Given the description of an element on the screen output the (x, y) to click on. 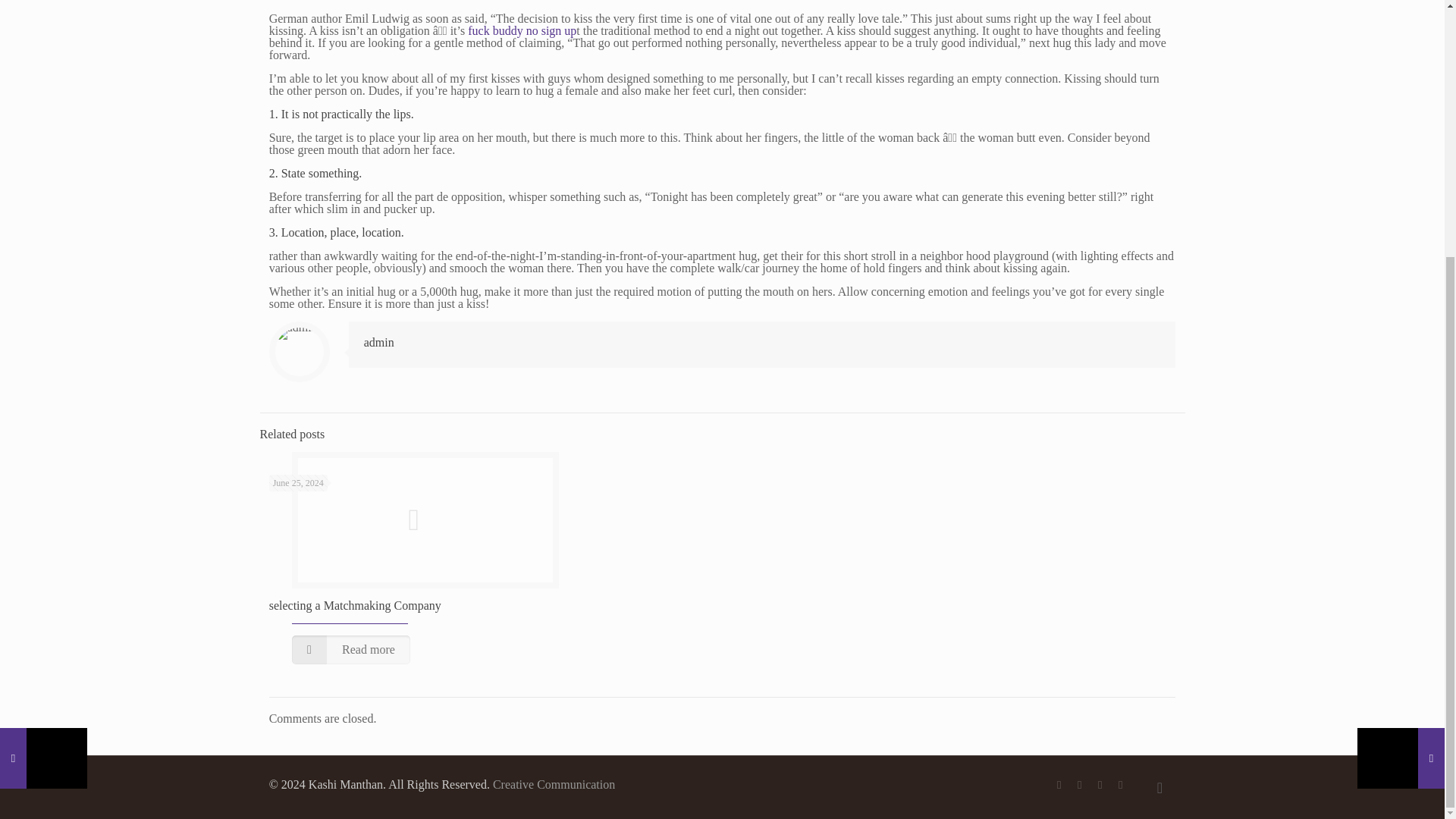
fuck buddy no sign up (521, 30)
Read more (351, 649)
Instagram (1120, 784)
YouTube (1100, 784)
admin (379, 341)
selecting a Matchmaking Company (355, 604)
Creative Communication (553, 784)
Facebook (1059, 784)
Twitter (1079, 784)
